Given the description of an element on the screen output the (x, y) to click on. 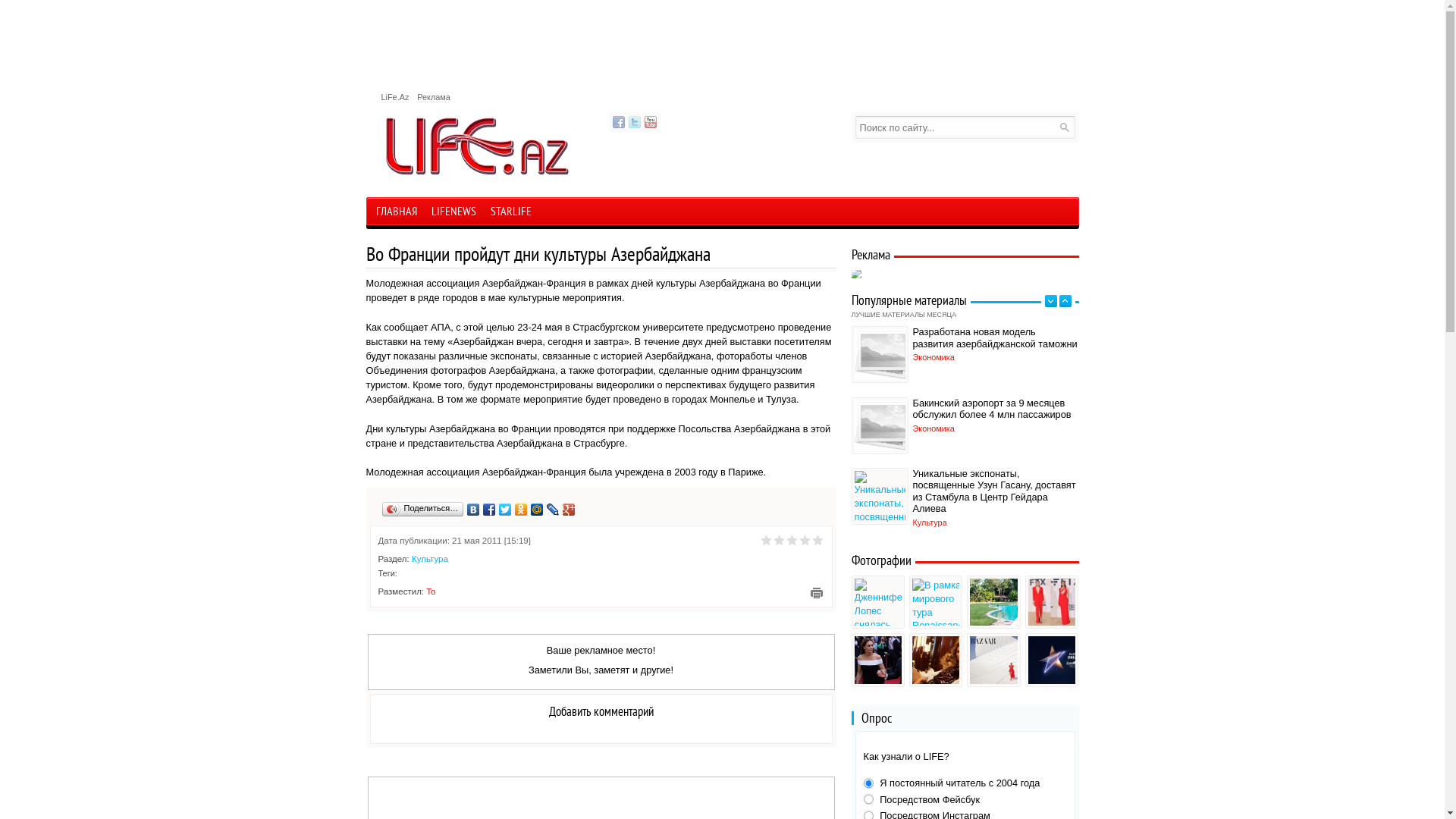
Facebook Element type: hover (489, 509)
Twitter Element type: hover (633, 122)
To Element type: text (430, 591)
4 Element type: text (803, 539)
LiFe.Az Element type: text (394, 97)
Facebook Element type: hover (618, 122)
5 Element type: text (817, 539)
3 Element type: text (791, 539)
Google Plus Element type: hover (569, 509)
STARLIFE Element type: text (510, 212)
Twitter Element type: hover (505, 509)
YouTube Element type: hover (650, 122)
LiveJournal Element type: hover (553, 509)
1 Element type: text (765, 539)
2 Element type: text (777, 539)
LIFENEWS Element type: text (453, 212)
